Given the description of an element on the screen output the (x, y) to click on. 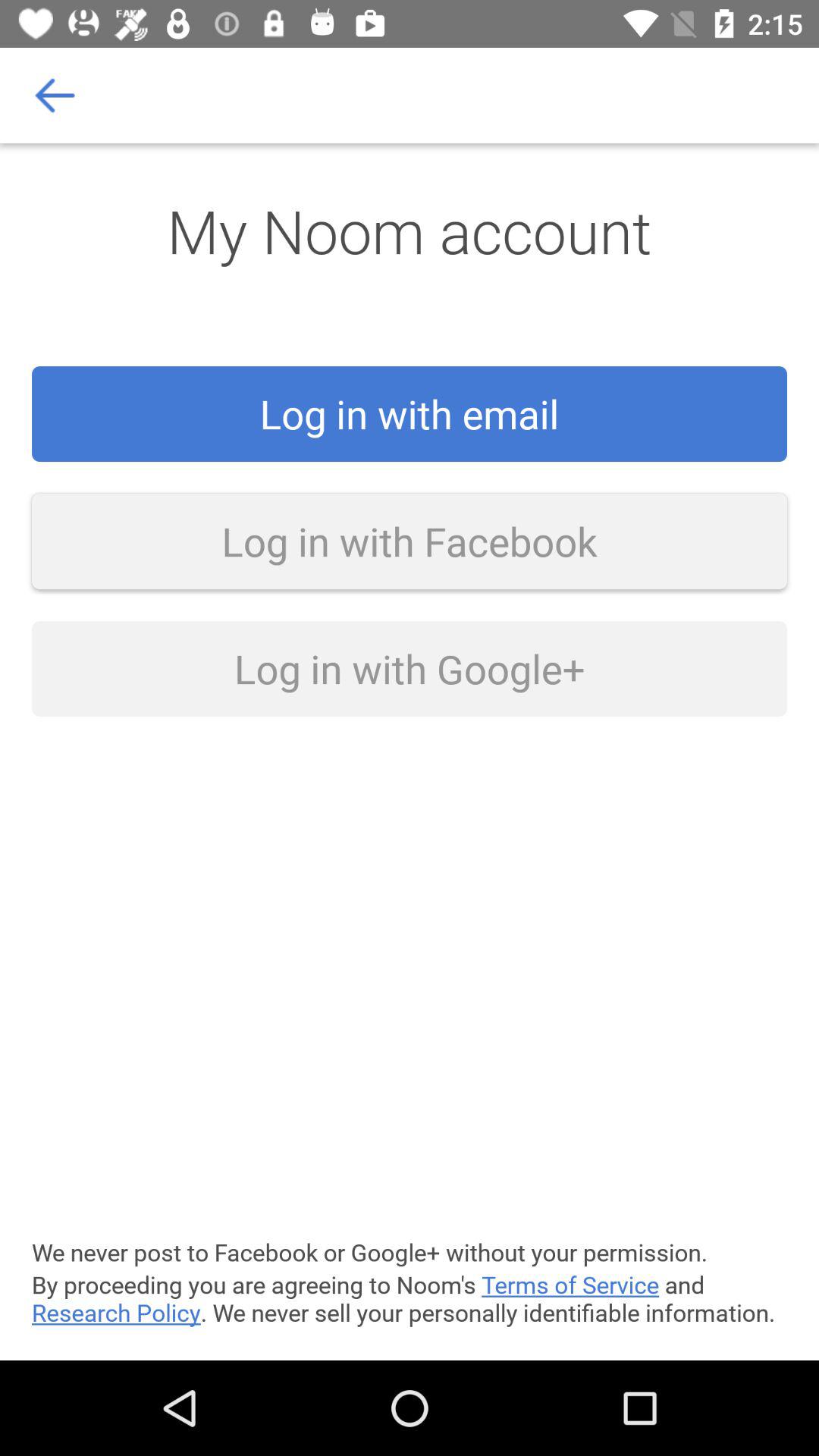
choose item at the top left corner (55, 95)
